Given the description of an element on the screen output the (x, y) to click on. 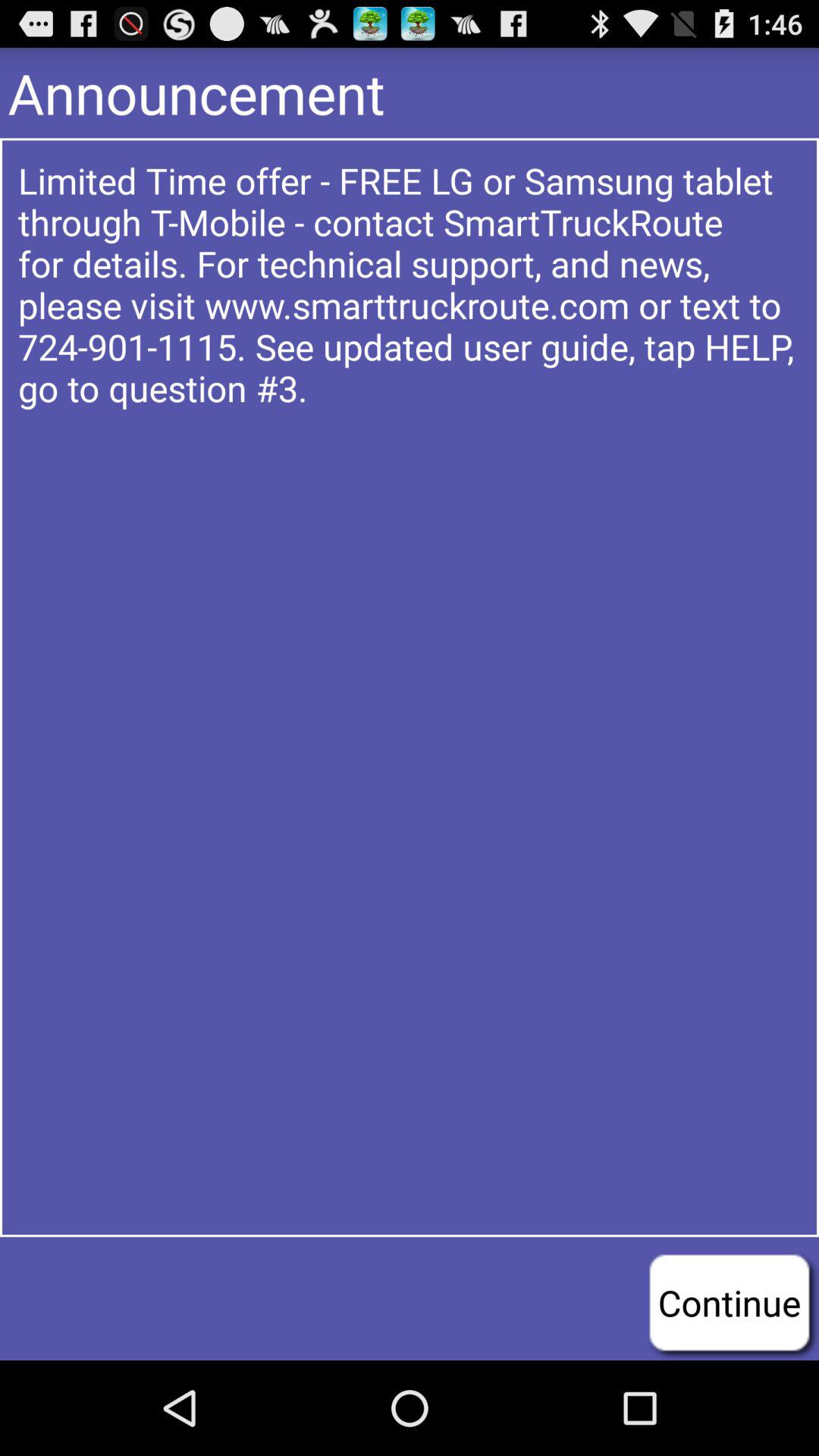
press continue (729, 1302)
